Given the description of an element on the screen output the (x, y) to click on. 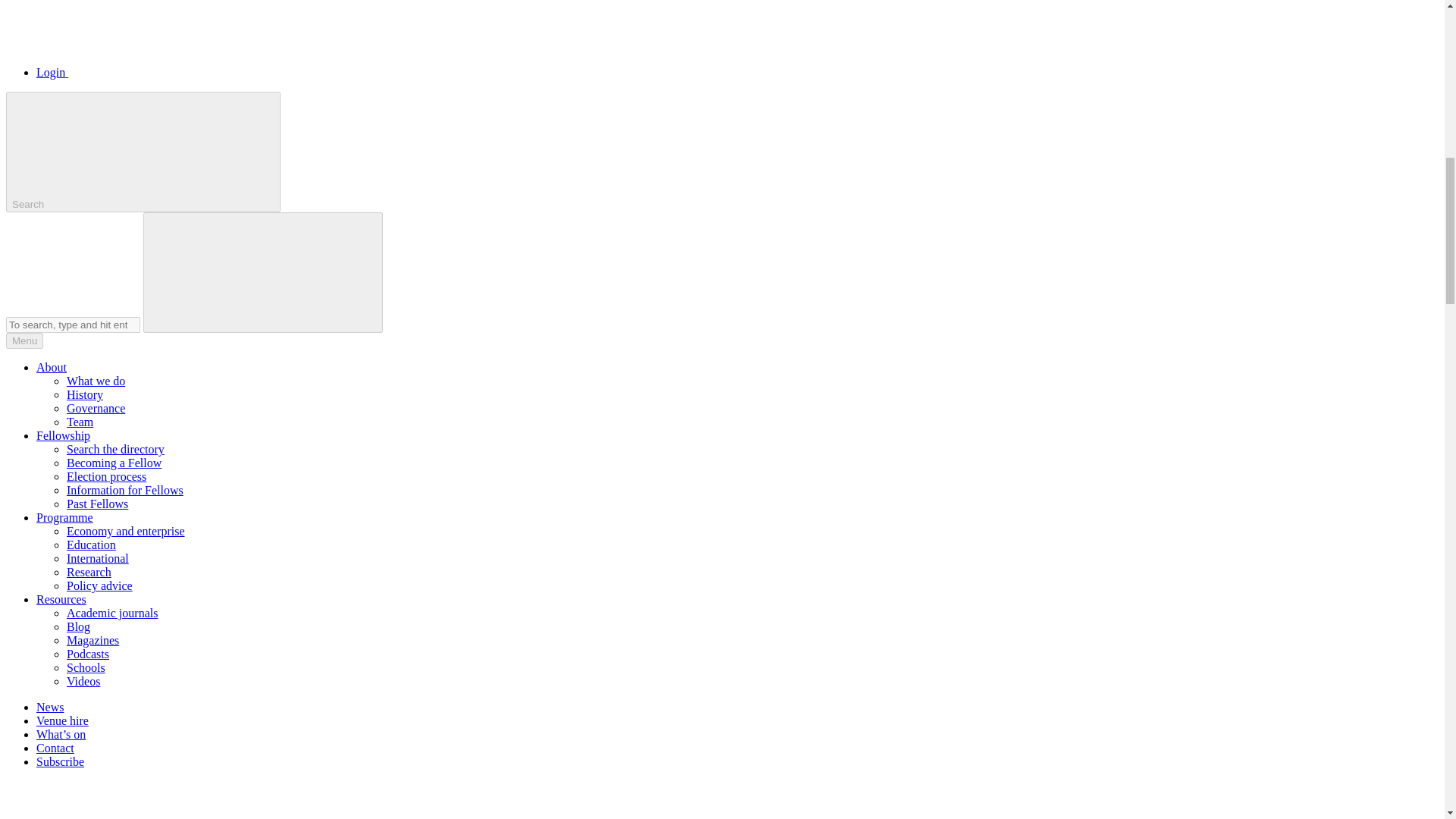
Governance (95, 408)
International (97, 558)
Becoming a Fellow (113, 462)
Fellowship (63, 435)
Past Fellows (97, 503)
Search (143, 151)
Login (165, 72)
What we do (95, 380)
Search the directory (115, 449)
Research (89, 571)
Blog (78, 626)
Menu (24, 340)
History (84, 394)
Policy advice (99, 585)
About (51, 367)
